Given the description of an element on the screen output the (x, y) to click on. 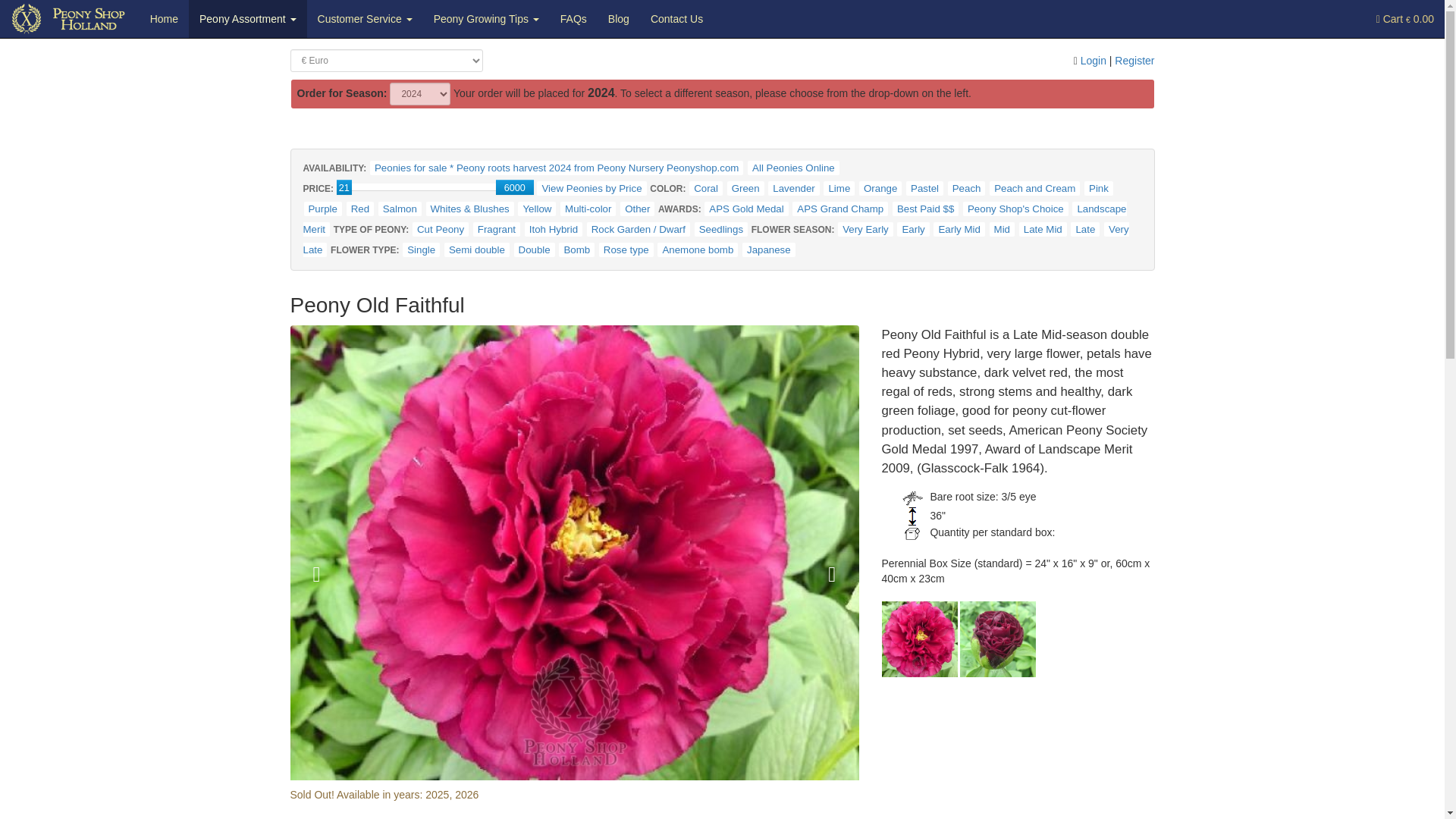
Customer Service  (365, 18)
Peach (966, 187)
Lime (839, 187)
Home (164, 18)
Login (1093, 60)
Green (745, 187)
FAQs (573, 18)
Coral (705, 187)
Pastel (924, 187)
Peach and Cream (1035, 187)
Contact Us (676, 18)
All Peonies Online (794, 167)
Lavender (793, 187)
Pink (1098, 187)
Blog (618, 18)
